Given the description of an element on the screen output the (x, y) to click on. 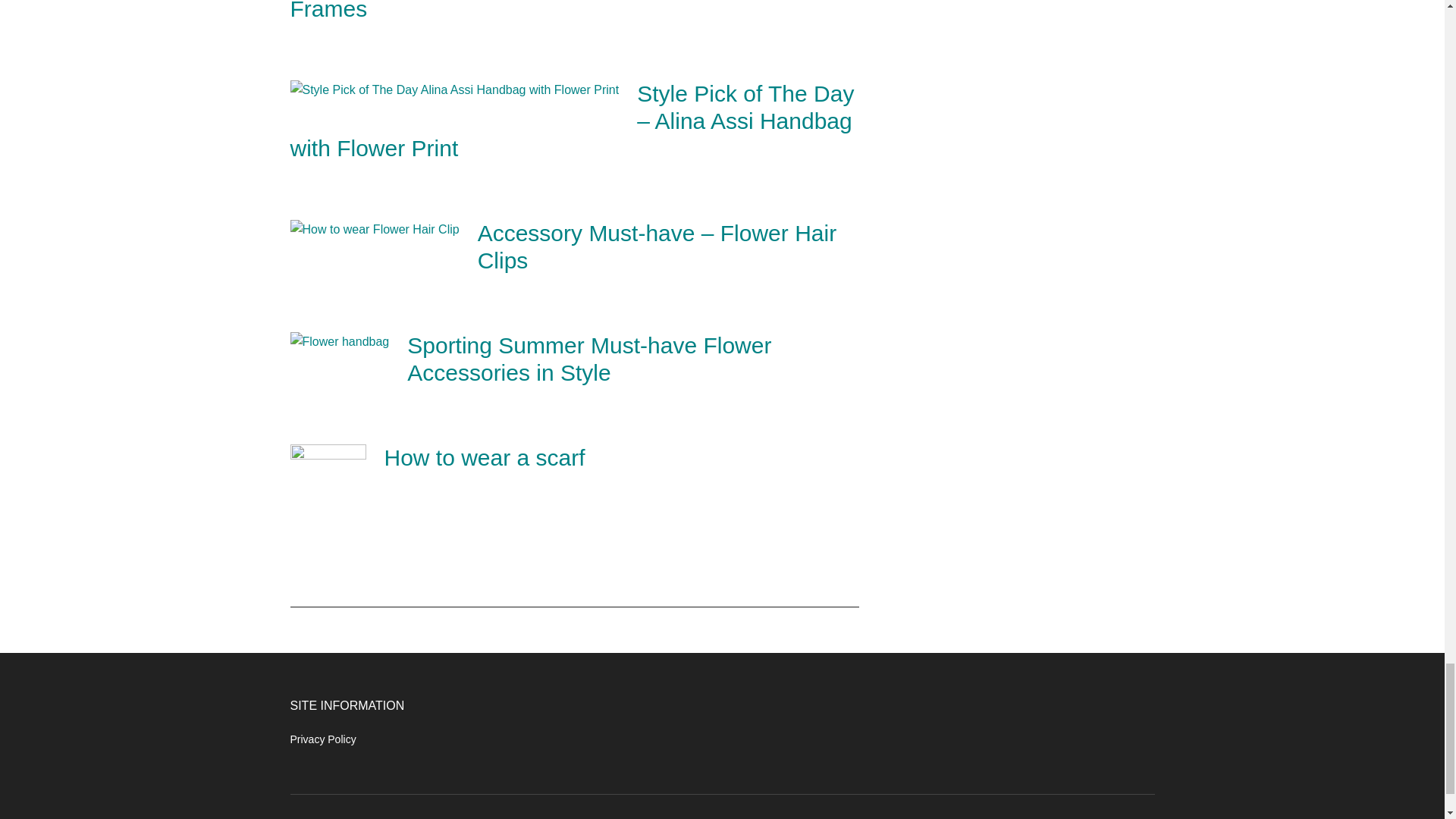
Style Pick of the Day: Color Blocked Retro Frames (556, 10)
How to wear a scarf (484, 457)
Sporting Summer Must-have Flower Accessories in Style (589, 358)
Style Pick of the Day: Color Blocked Retro Frames (556, 10)
